Given the description of an element on the screen output the (x, y) to click on. 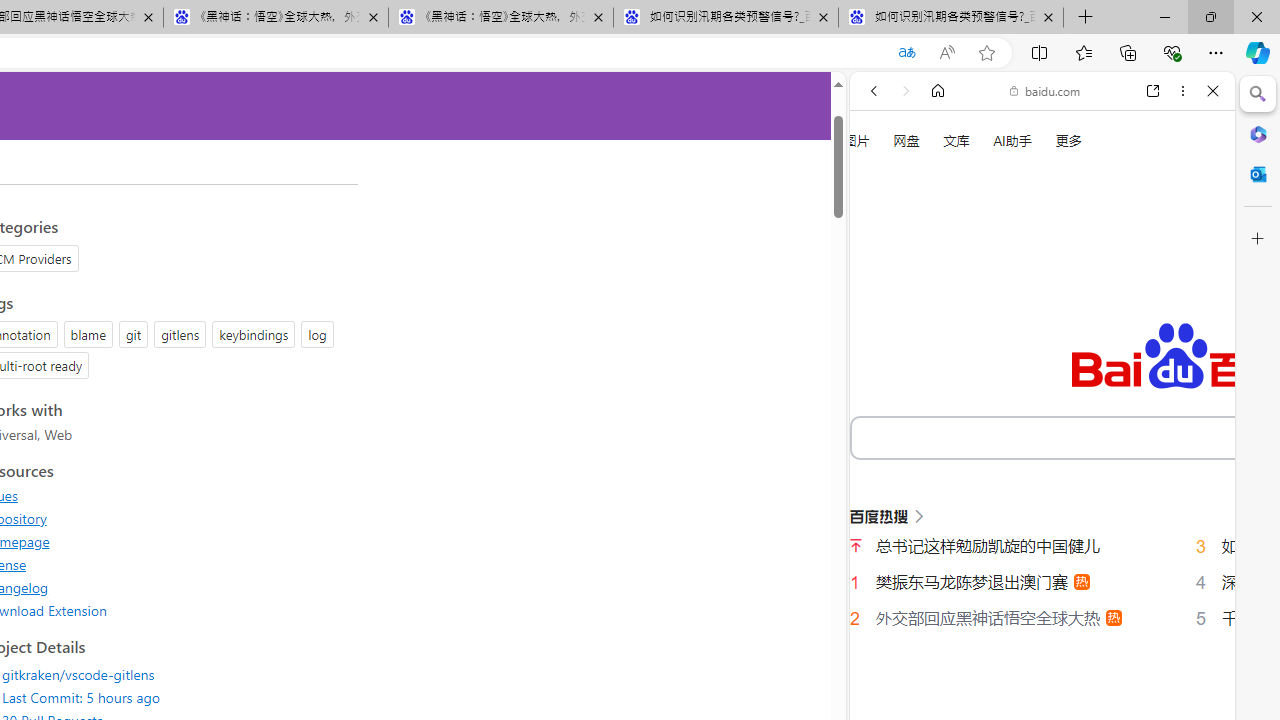
English (US) (1042, 579)
Learn more (943, 272)
Translated (906, 53)
English (Uk) (1042, 622)
